Given the description of an element on the screen output the (x, y) to click on. 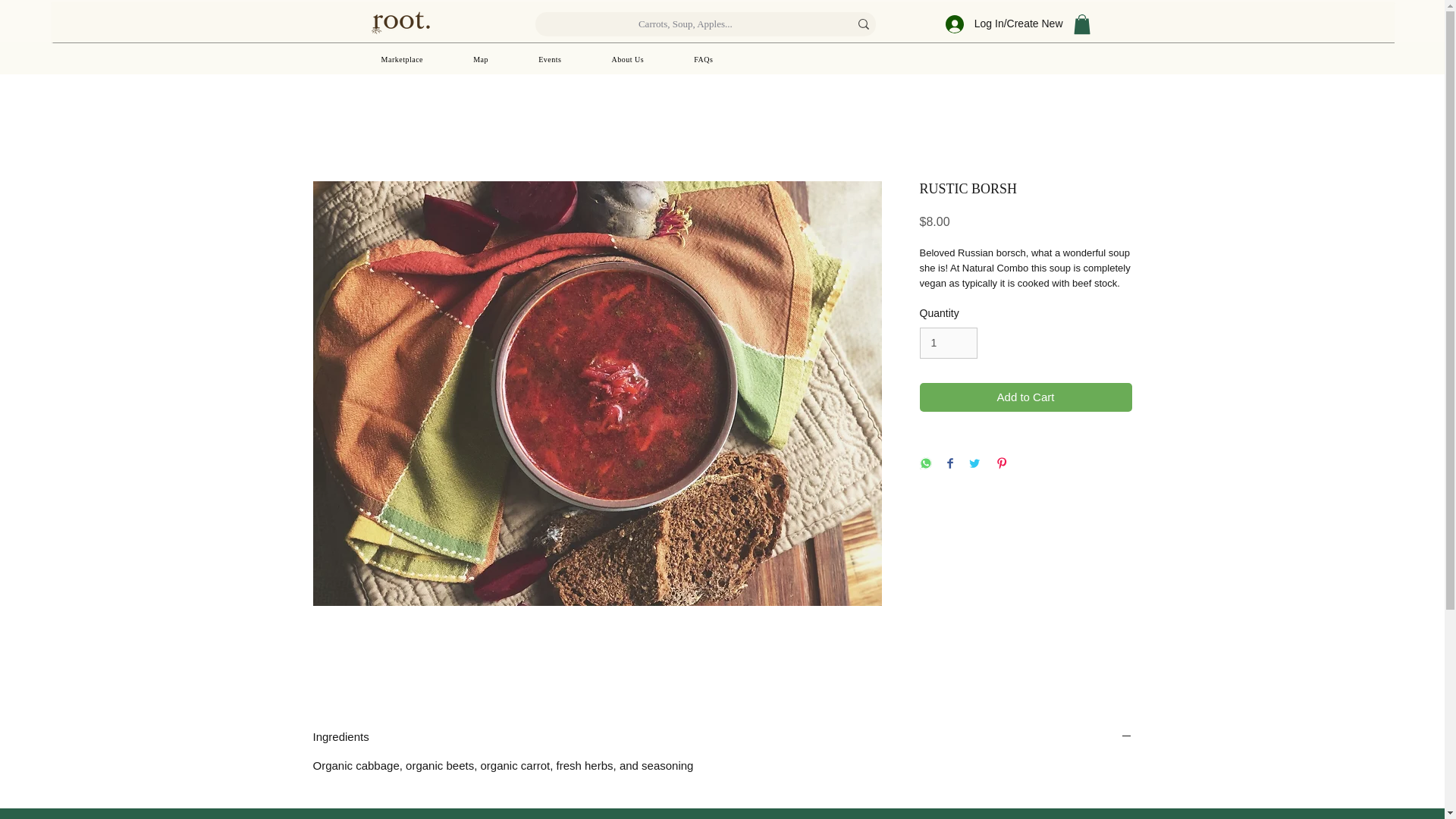
Ingredients (722, 737)
FAQs (703, 59)
Cow.png (391, 816)
1 (947, 342)
Add to Cart (1024, 397)
